Given the description of an element on the screen output the (x, y) to click on. 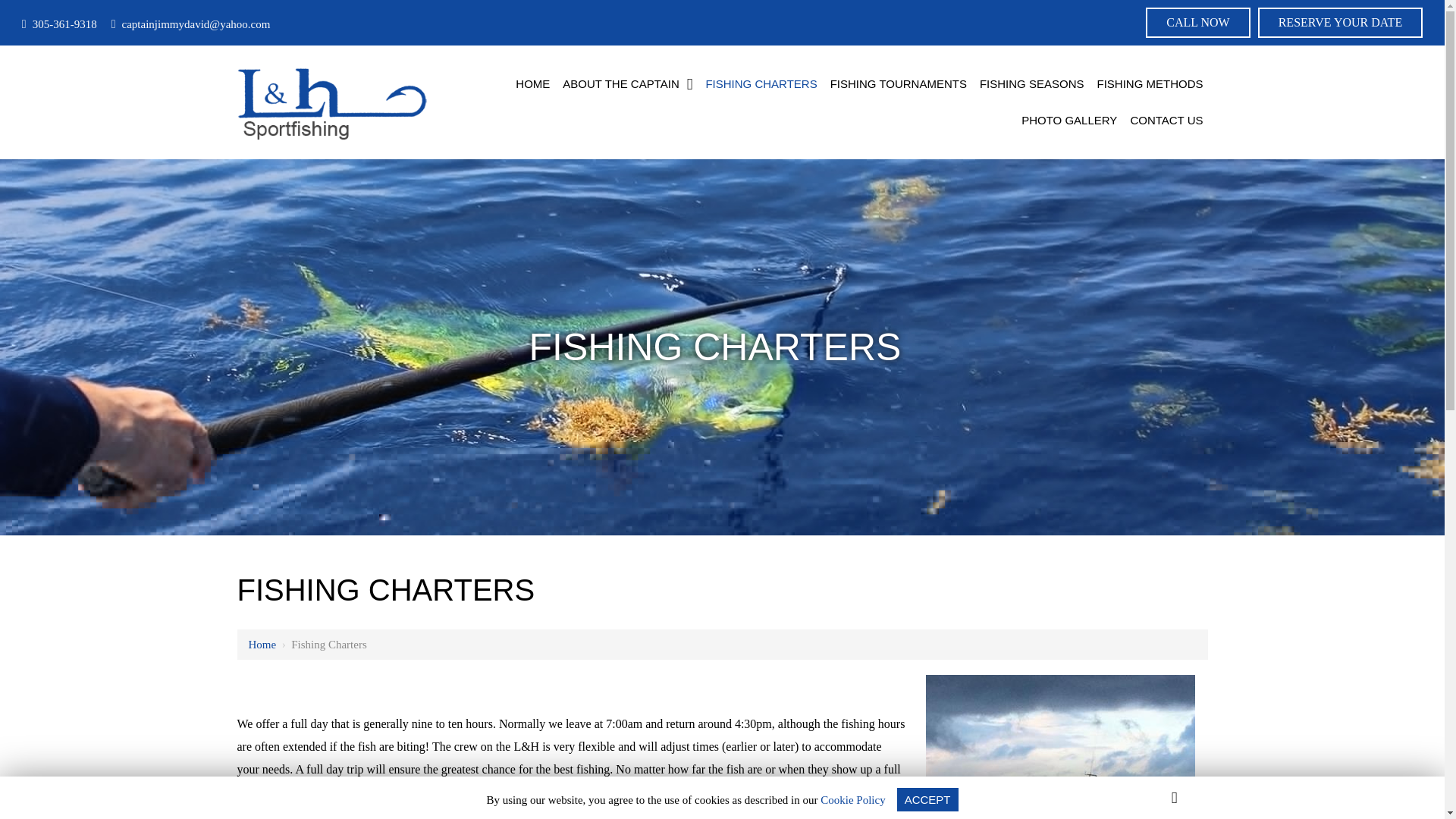
FISHING METHODS (1149, 84)
CALL NOW (1197, 22)
FISHING TOURNAMENTS (898, 84)
305-361-9318 (59, 23)
ABOUT THE CAPTAIN (627, 84)
PHOTO GALLERY (1068, 120)
HOME (532, 84)
Home (262, 644)
FISHING SEASONS (1032, 84)
FISHING CHARTERS (760, 84)
